Given the description of an element on the screen output the (x, y) to click on. 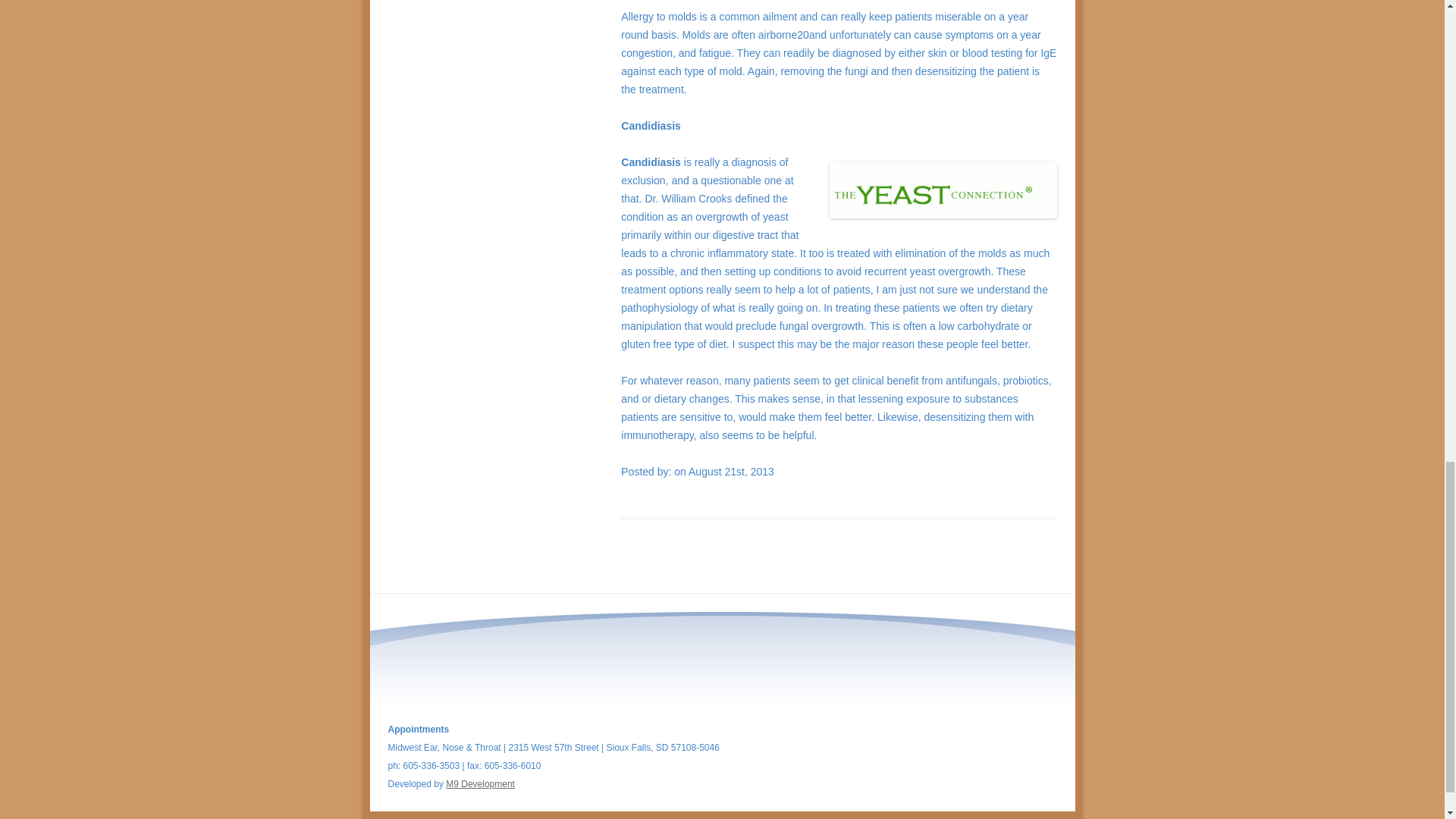
M9 Development (480, 783)
